Given the description of an element on the screen output the (x, y) to click on. 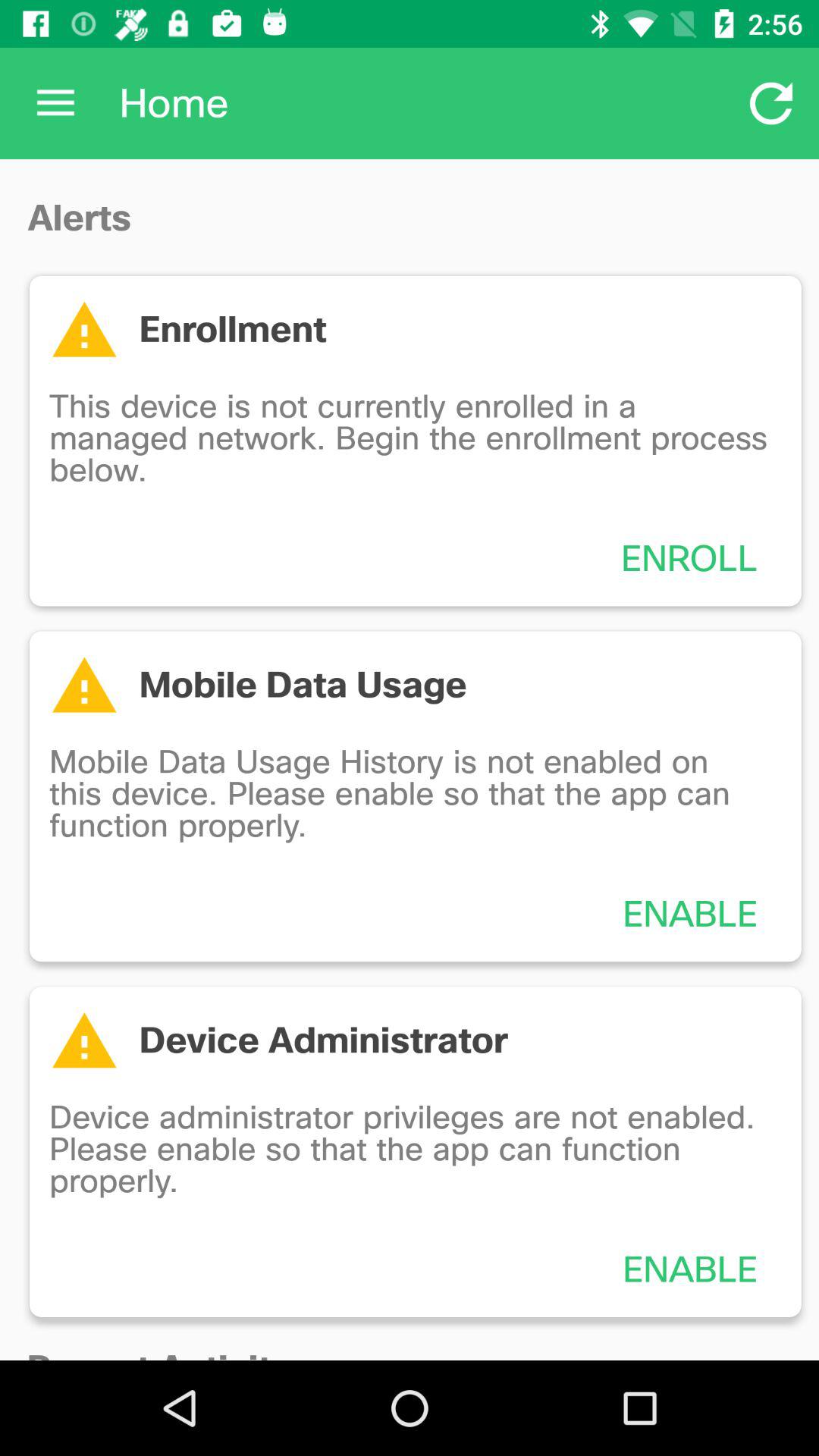
tap icon above alerts icon (55, 103)
